Given the description of an element on the screen output the (x, y) to click on. 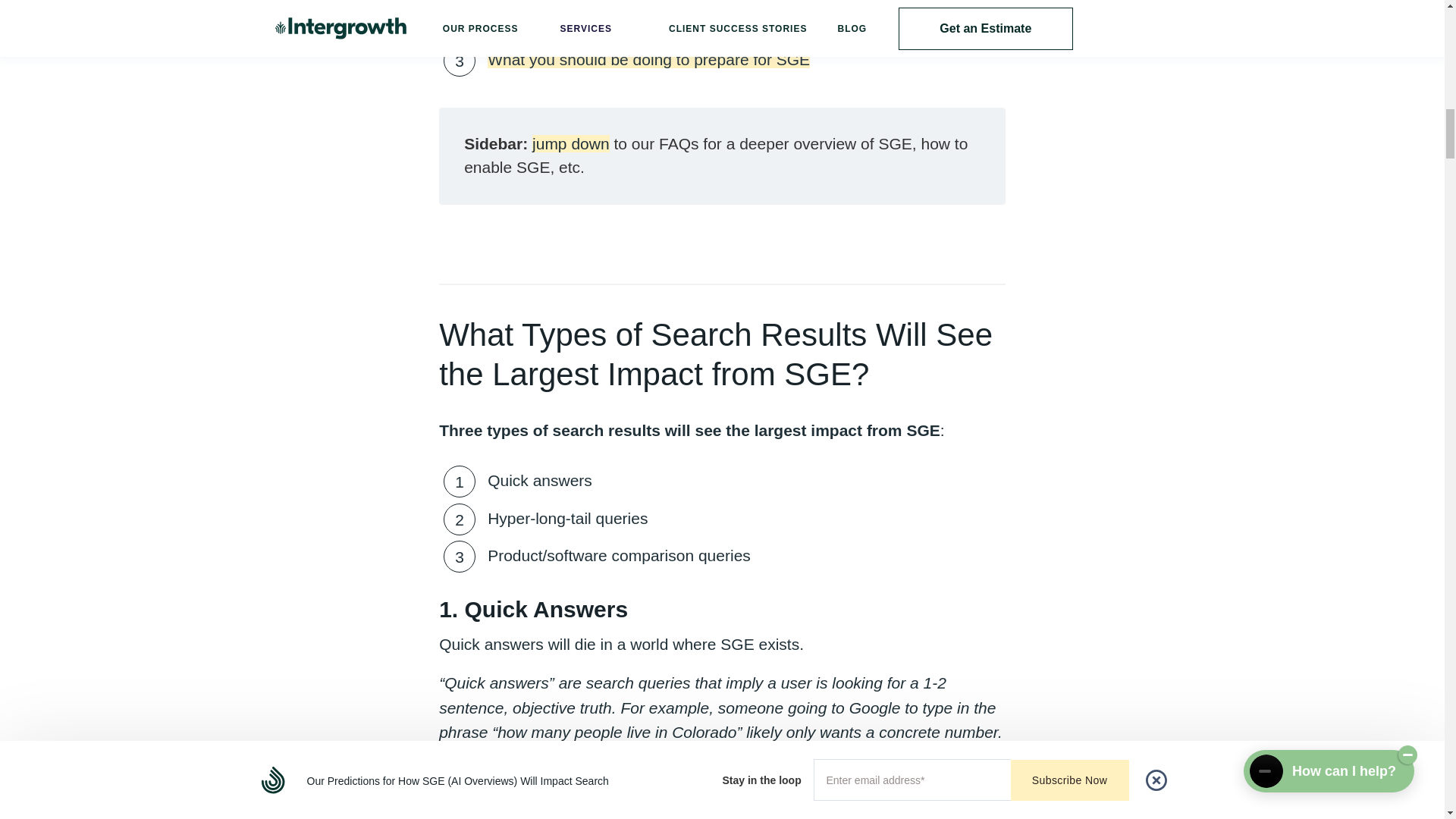
jump down (571, 143)
What you should be doing to prepare for SGE (648, 58)
How SGE will impact businesses (603, 22)
